Given the description of an element on the screen output the (x, y) to click on. 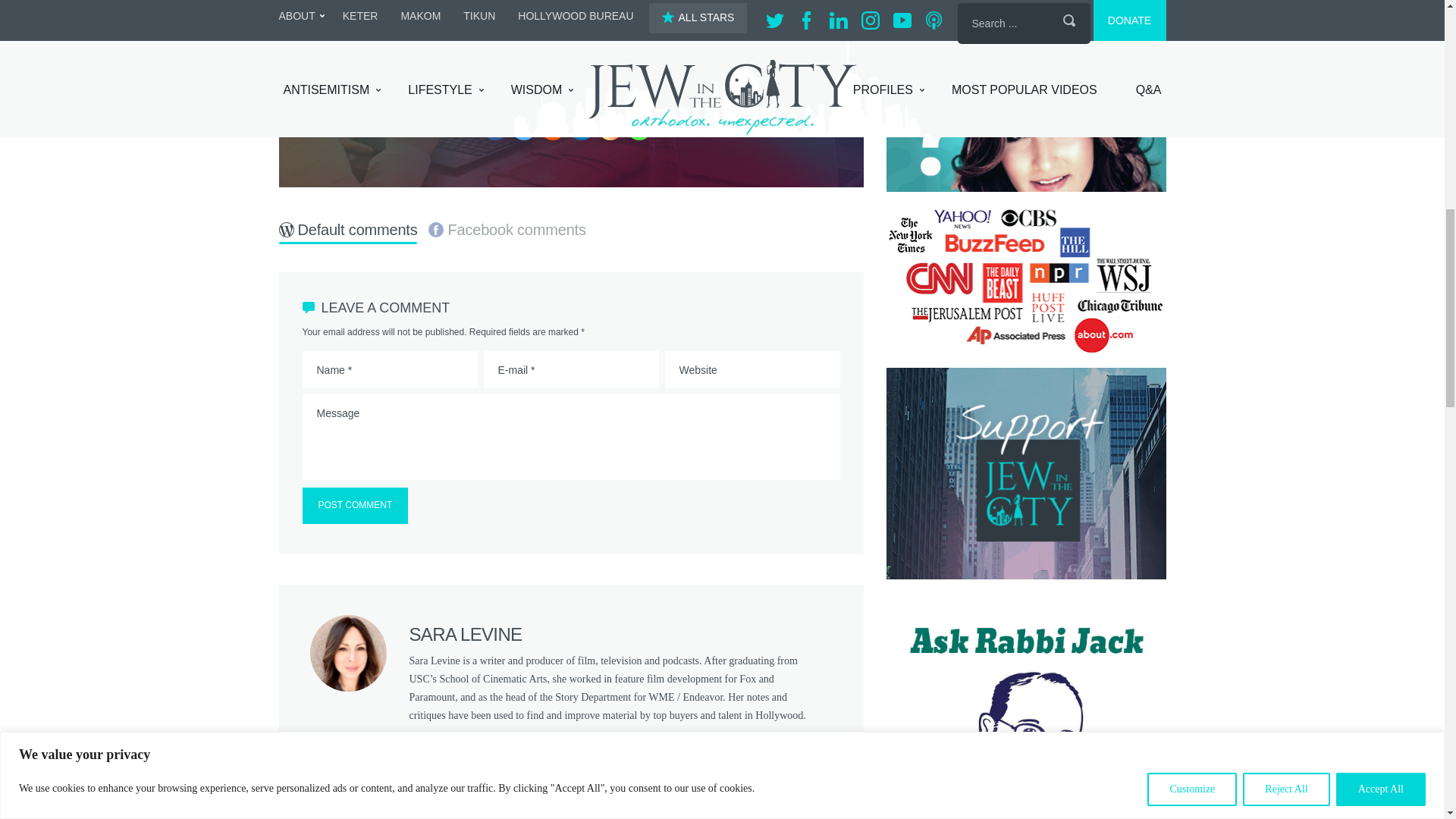
Instagram (609, 127)
Linkedin (581, 127)
Twitter (524, 127)
Post comment (354, 505)
Facebook (494, 127)
Reddit (553, 127)
Whatsapp (639, 127)
